Given the description of an element on the screen output the (x, y) to click on. 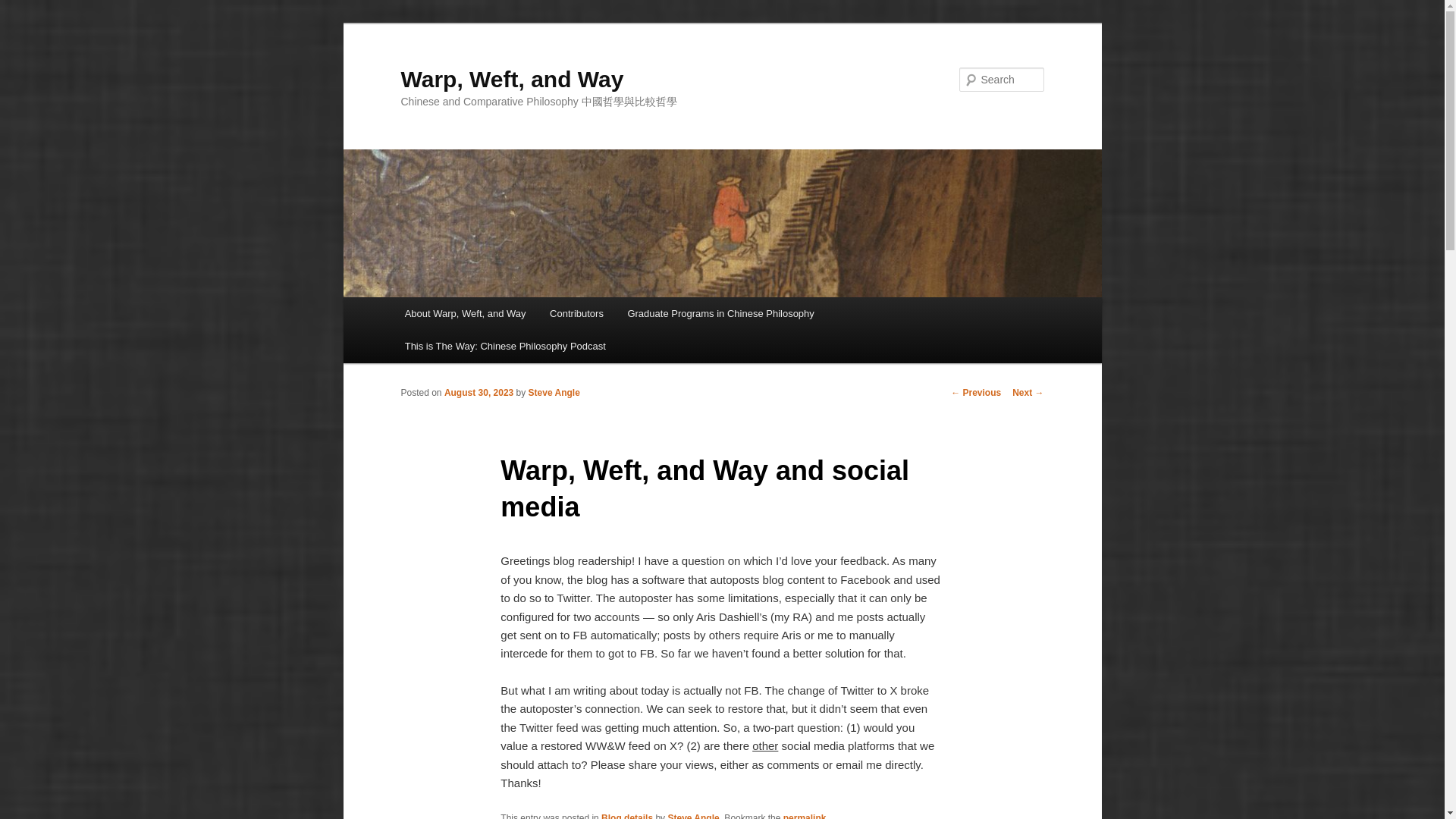
August 30, 2023 (478, 392)
permalink (805, 816)
Warp, Weft, and Way (511, 78)
About Warp, Weft, and Way (465, 313)
View all posts by Steve Angle (553, 392)
Graduate Programs in Chinese Philosophy (721, 313)
Steve Angle (553, 392)
Permalink to Warp, Weft, and Way and social media (805, 816)
9:34 am (478, 392)
This is The Way: Chinese Philosophy Podcast (505, 346)
Blog details (626, 816)
Steve Angle (692, 816)
Search (24, 8)
Contributors (575, 313)
